Given the description of an element on the screen output the (x, y) to click on. 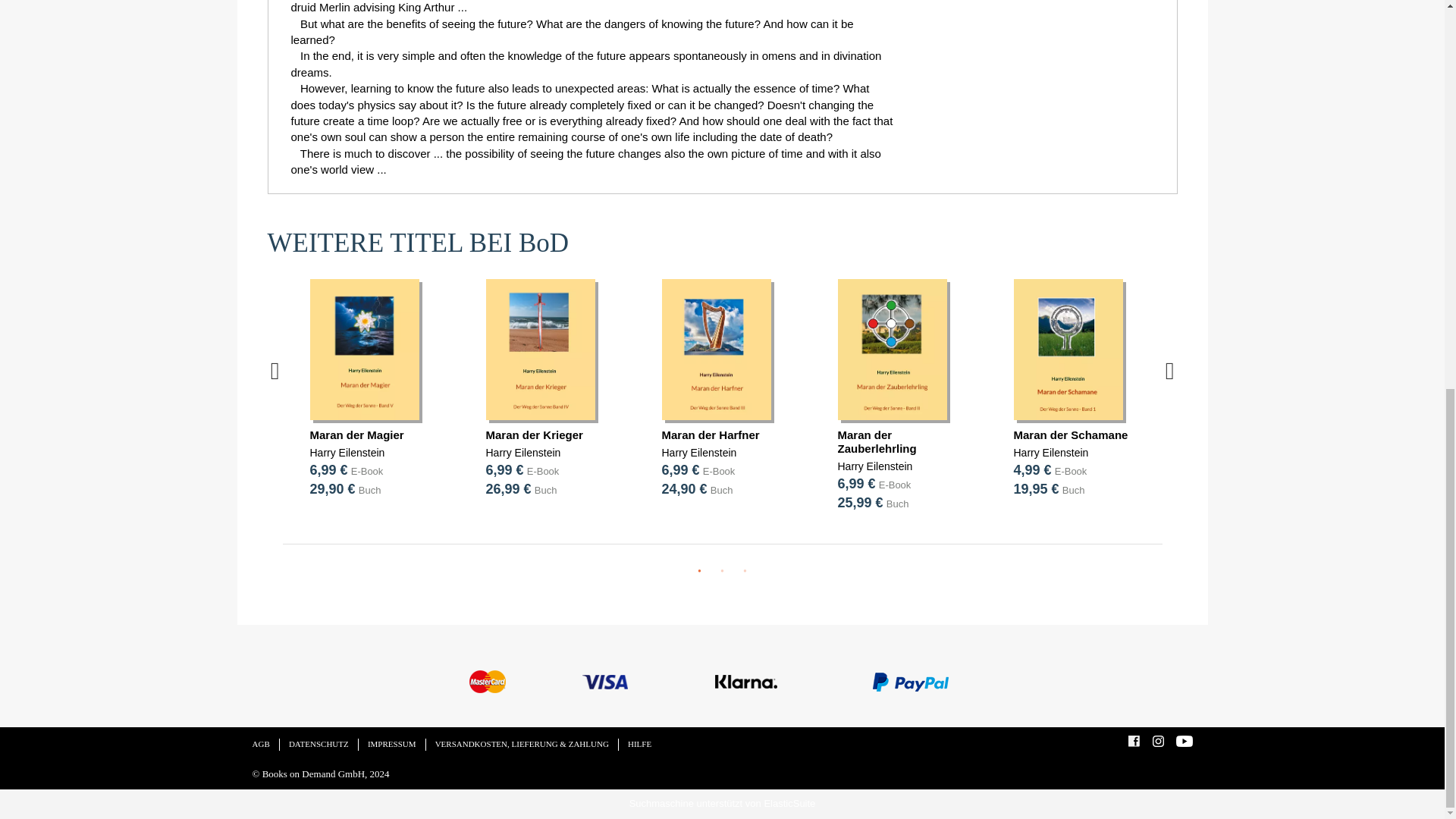
Maran der Magier (355, 434)
Maran der Zauberlehrling (876, 441)
Maran der Harfner (709, 434)
Maran der Krieger (533, 434)
Maran der Schamane (1069, 434)
